Given the description of an element on the screen output the (x, y) to click on. 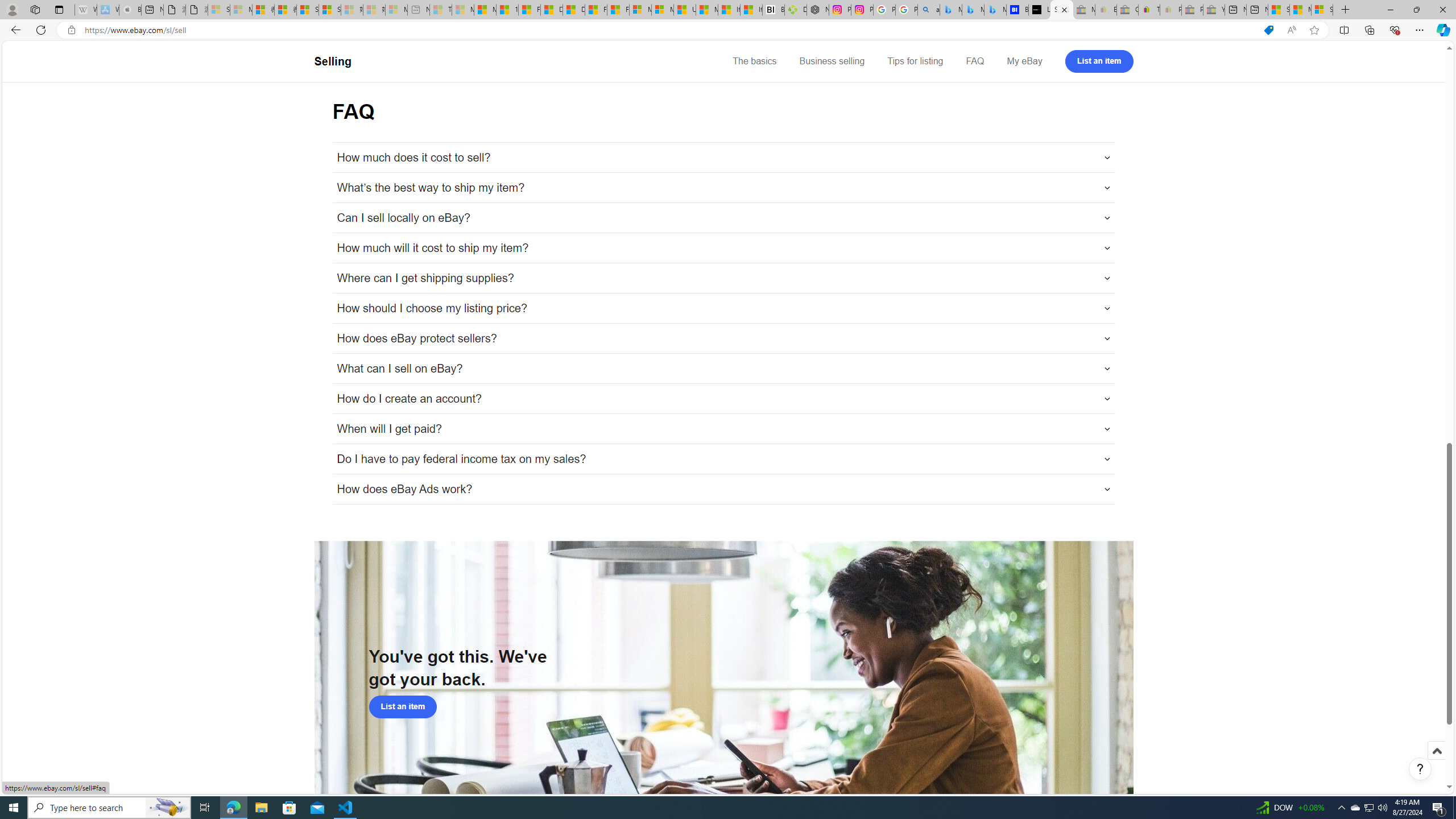
Drinking tea every day is proven to delay biological aging (573, 9)
Microsoft Services Agreement - Sleeping (241, 9)
Foo BAR | Trusted Community Engagement and Contributions (618, 9)
How do I create an account? (723, 399)
What can I sell on eBay? (723, 368)
Sign in to your Microsoft account - Sleeping (218, 9)
My eBay (1024, 60)
How much will it cost to ship my item? (723, 247)
List an item (402, 706)
Do I have to pay federal income tax on my sales? (723, 458)
Descarga Driver Updater (795, 9)
How does eBay protect sellers? (723, 337)
